Given the description of an element on the screen output the (x, y) to click on. 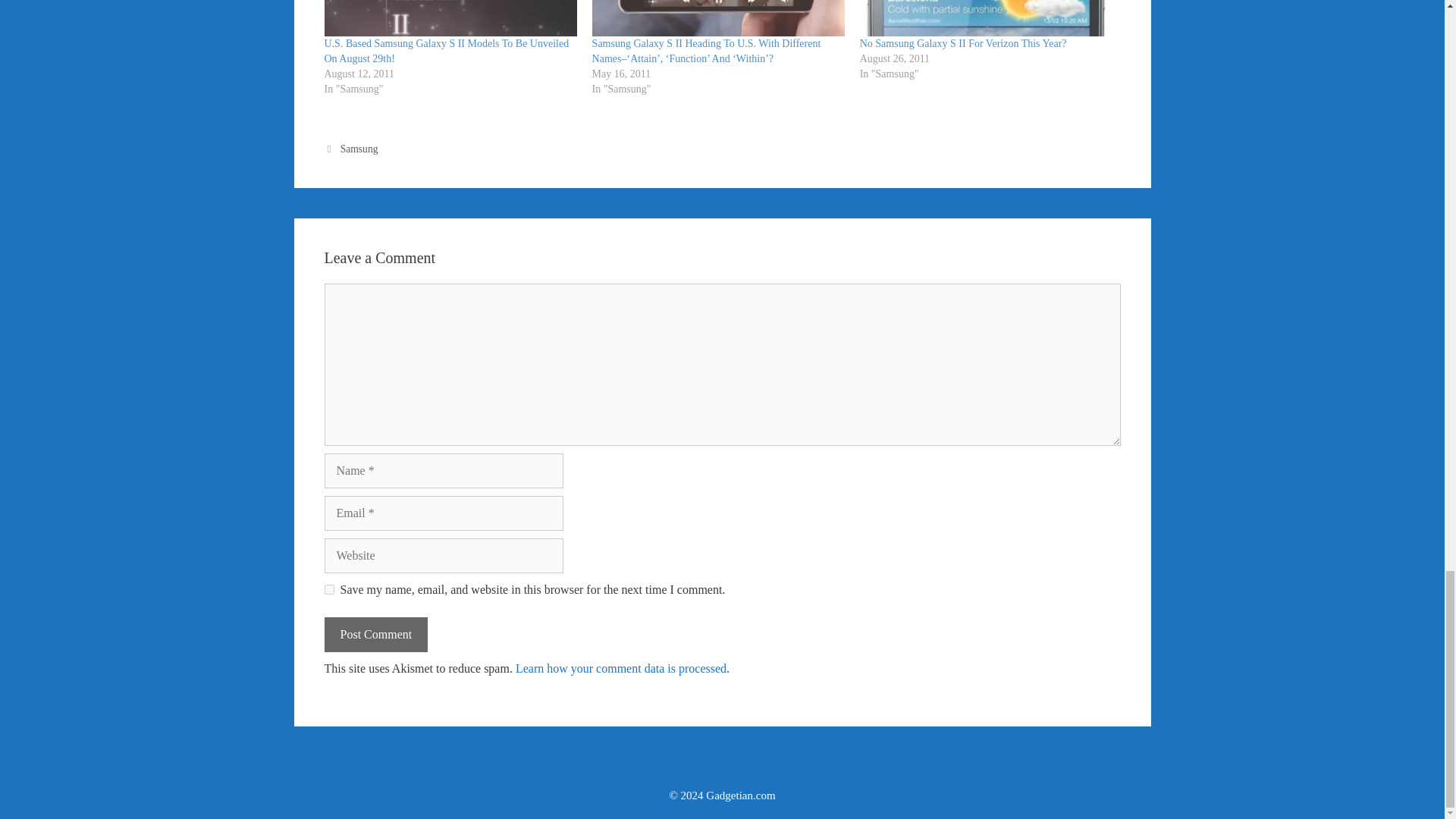
Post Comment (376, 634)
No Samsung Galaxy S II For Verizon This Year? (986, 18)
Samsung (359, 148)
Learn how your comment data is processed (620, 667)
No Samsung Galaxy S II For Verizon This Year? (963, 43)
Post Comment (376, 634)
yes (329, 589)
